Given the description of an element on the screen output the (x, y) to click on. 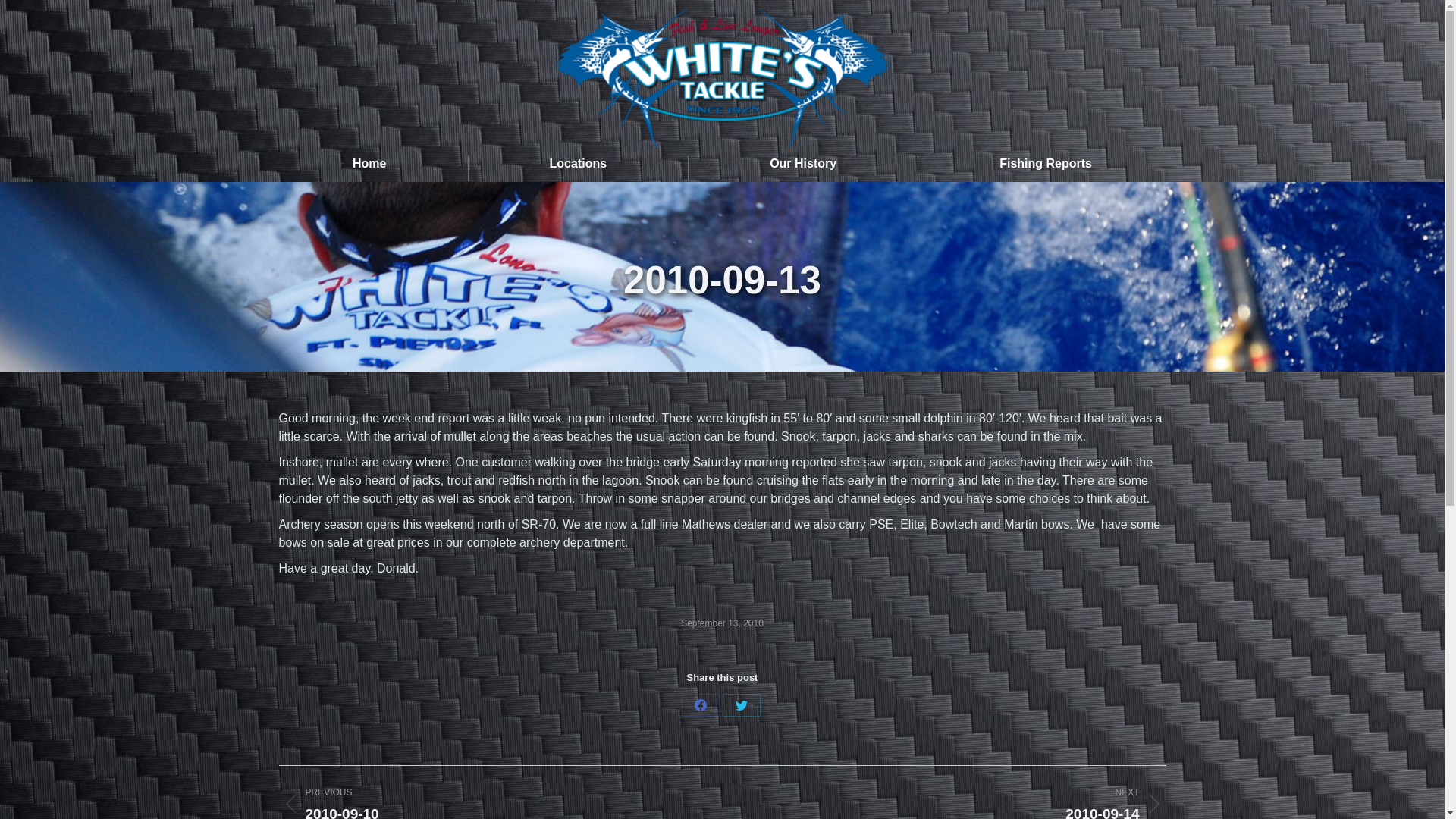
12:00 am (721, 623)
Our History (803, 163)
Share on Twitter (741, 704)
Share on Facebook (700, 704)
Twitter (741, 704)
September 13, 2010 (721, 623)
Locations (489, 801)
Facebook (577, 163)
Home (700, 704)
Fishing Reports (369, 163)
